Given the description of an element on the screen output the (x, y) to click on. 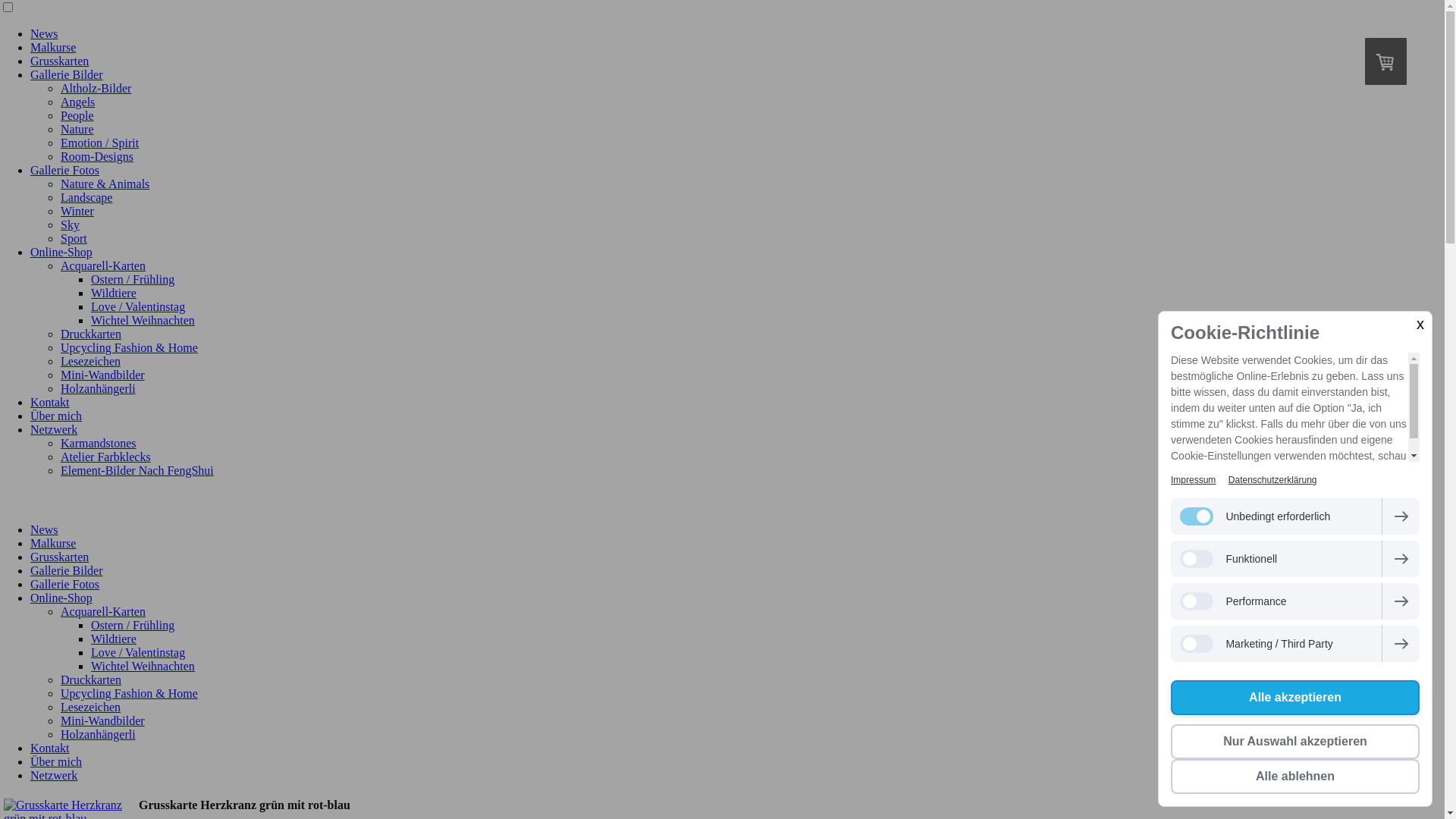
Acquarell-Karten Element type: text (102, 265)
Emotion / Spirit Element type: text (99, 142)
News Element type: text (43, 33)
Malkurse Element type: text (52, 46)
Malkurse Element type: text (52, 542)
Upcycling Fashion & Home Element type: text (128, 347)
Karmandstones Element type: text (98, 442)
Room-Designs Element type: text (96, 156)
Sky Element type: text (69, 224)
Element-Bilder Nach FengShui Element type: text (136, 470)
Netzwerk Element type: text (53, 429)
Impressum Element type: text (1192, 479)
Wichtel Weihnachten Element type: text (142, 319)
Nur Auswahl akzeptieren Element type: text (1294, 741)
Atelier Farbklecks Element type: text (105, 456)
Upcycling Fashion & Home Element type: text (128, 693)
News Element type: text (43, 529)
Druckkarten Element type: text (90, 333)
Gallerie Bilder Element type: text (66, 570)
Grusskarten Element type: text (59, 60)
Gallerie Fotos Element type: text (64, 583)
Lesezeichen Element type: text (90, 706)
Acquarell-Karten Element type: text (102, 611)
Netzwerk Element type: text (53, 774)
Online-Shop Element type: text (61, 597)
Sport Element type: text (73, 238)
Kontakt Element type: text (49, 747)
Nature & Animals Element type: text (104, 183)
Love / Valentinstag Element type: text (138, 652)
Mini-Wandbilder Element type: text (102, 720)
Nature Element type: text (77, 128)
Alle akzeptieren Element type: text (1294, 697)
Druckkarten Element type: text (90, 679)
Landscape Element type: text (86, 197)
Grusskarten Element type: text (59, 556)
Mini-Wandbilder Element type: text (102, 374)
Kontakt Element type: text (49, 401)
Online-Shop Element type: text (61, 251)
Love / Valentinstag Element type: text (138, 306)
Alle ablehnen Element type: text (1294, 776)
Angels Element type: text (77, 101)
Lesezeichen Element type: text (90, 360)
Altholz-Bilder Element type: text (95, 87)
Gallerie Fotos Element type: text (64, 169)
Wichtel Weihnachten Element type: text (142, 665)
Wildtiere Element type: text (113, 638)
People Element type: text (77, 115)
Gallerie Bilder Element type: text (66, 74)
Winter Element type: text (77, 210)
Wildtiere Element type: text (113, 292)
